Given the description of an element on the screen output the (x, y) to click on. 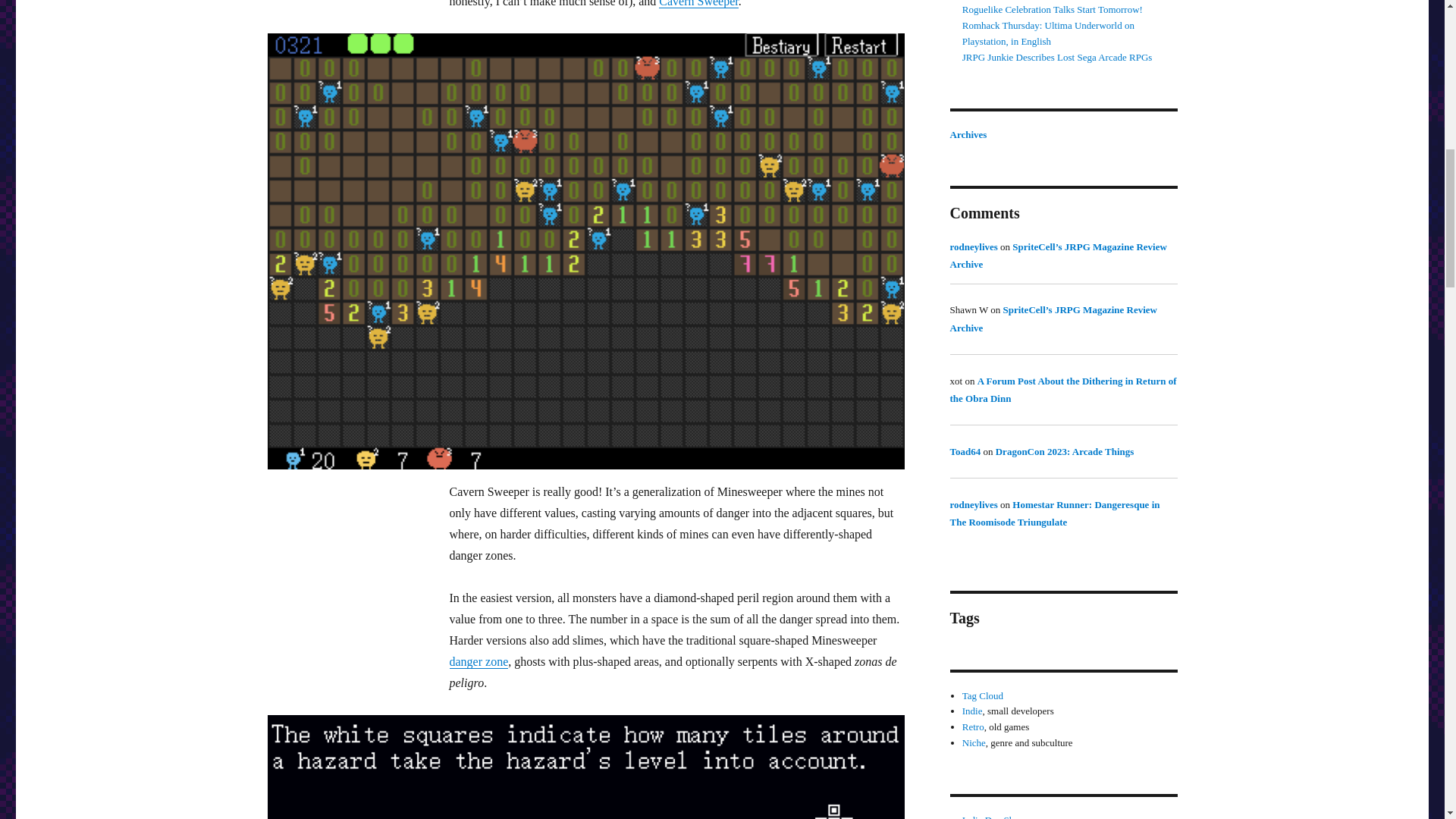
danger zone (478, 661)
Cavern Sweeper (698, 3)
Roguelike Celebration Talks Start Tomorrow! (1052, 9)
